Given the description of an element on the screen output the (x, y) to click on. 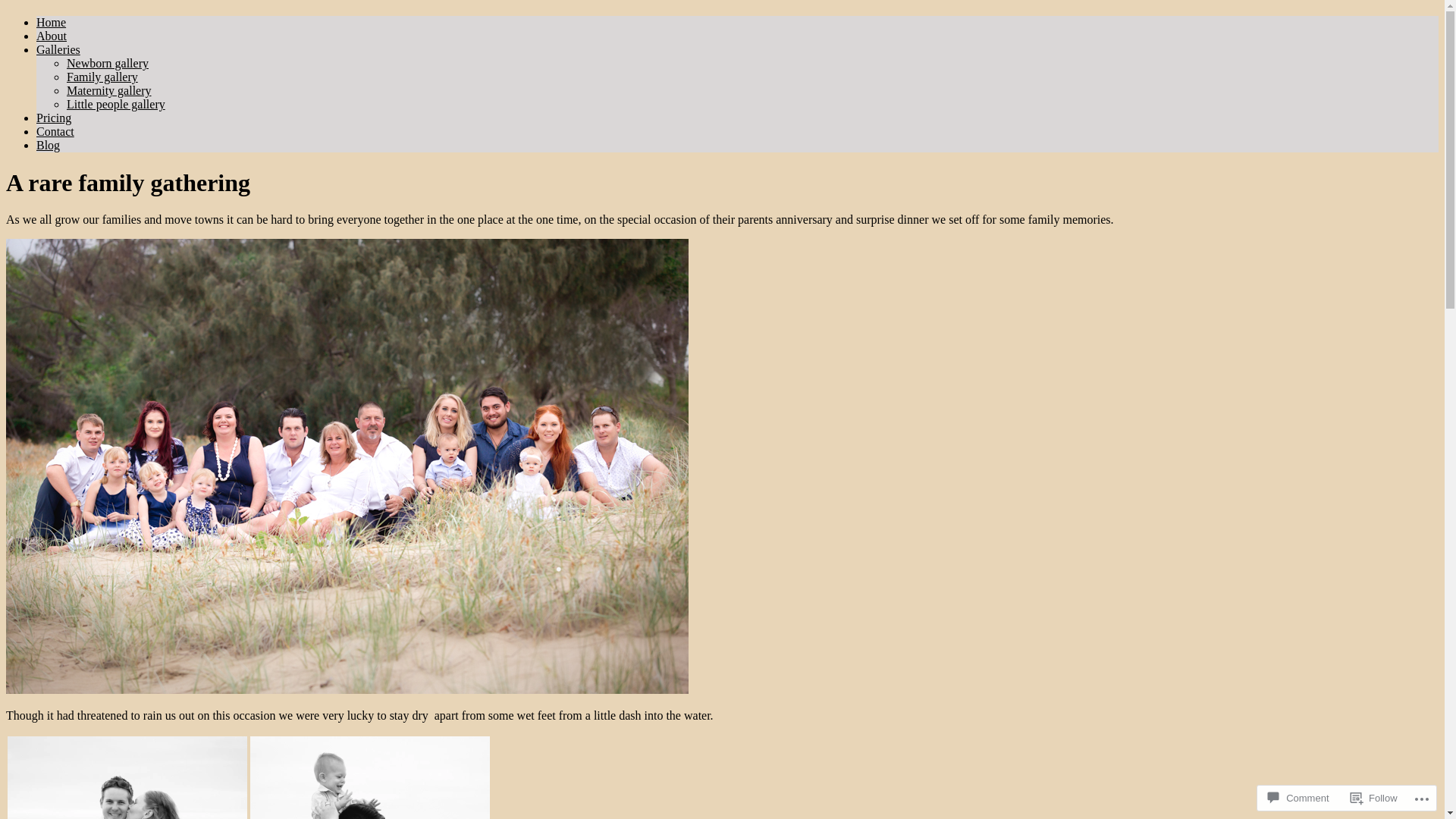
Follow Element type: text (1373, 797)
About Element type: text (51, 35)
Contact Element type: text (55, 131)
Little people gallery Element type: text (115, 103)
Comment Element type: text (1297, 797)
Blog Element type: text (47, 144)
Newborn gallery Element type: text (107, 62)
Home Element type: text (50, 21)
Maternity gallery Element type: text (108, 90)
Galleries Element type: text (58, 49)
Family gallery Element type: text (102, 76)
Pricing Element type: text (53, 117)
